Given the description of an element on the screen output the (x, y) to click on. 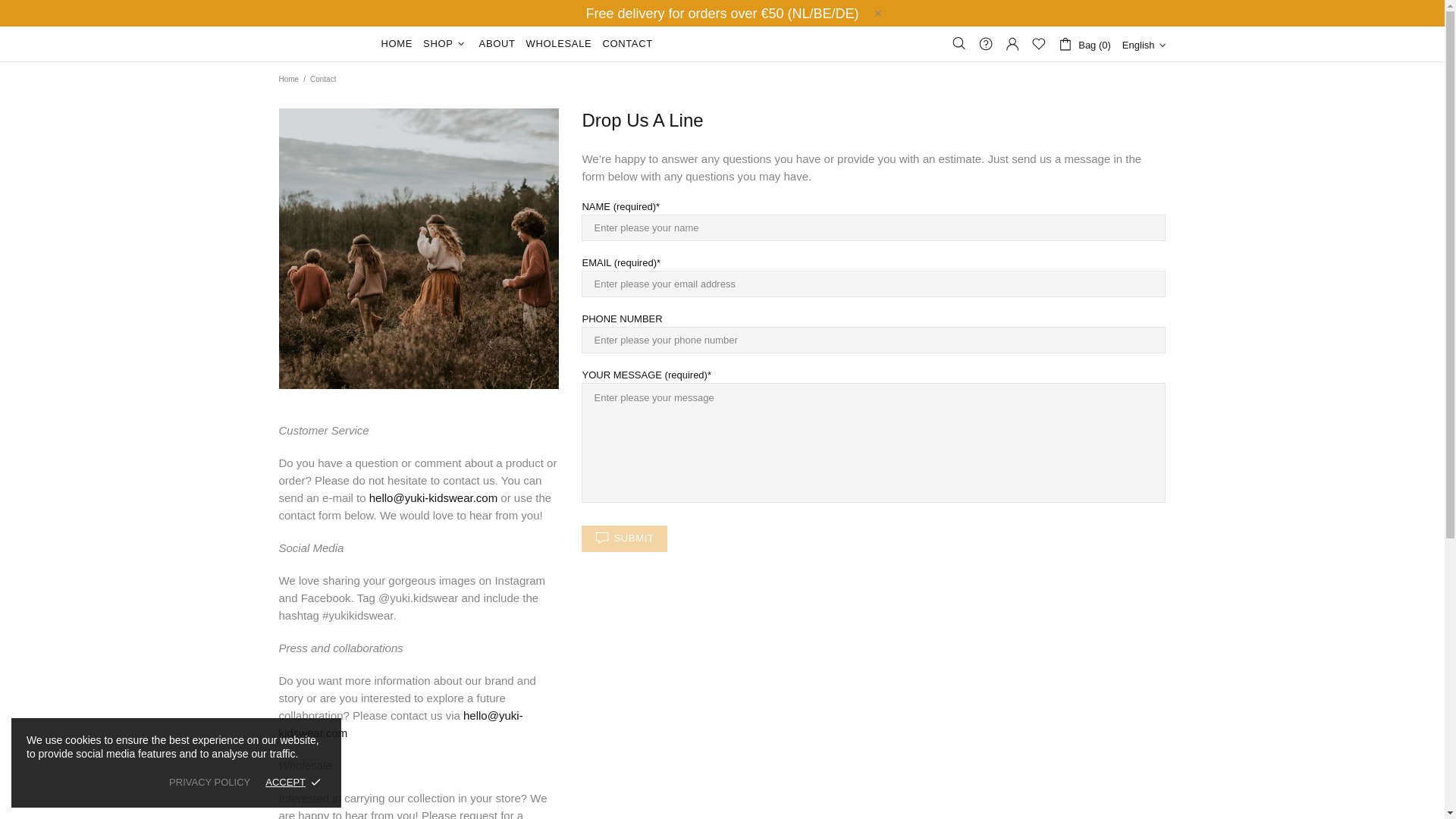
Yuki Kidswear (320, 43)
HOME (397, 44)
WHOLESALE (558, 44)
SUBMIT (623, 538)
CONTACT (627, 44)
Page 2 (419, 506)
Home (288, 79)
ABOUT (497, 44)
SHOP (445, 44)
Page 2 (419, 729)
Page 2 (419, 248)
